Given the description of an element on the screen output the (x, y) to click on. 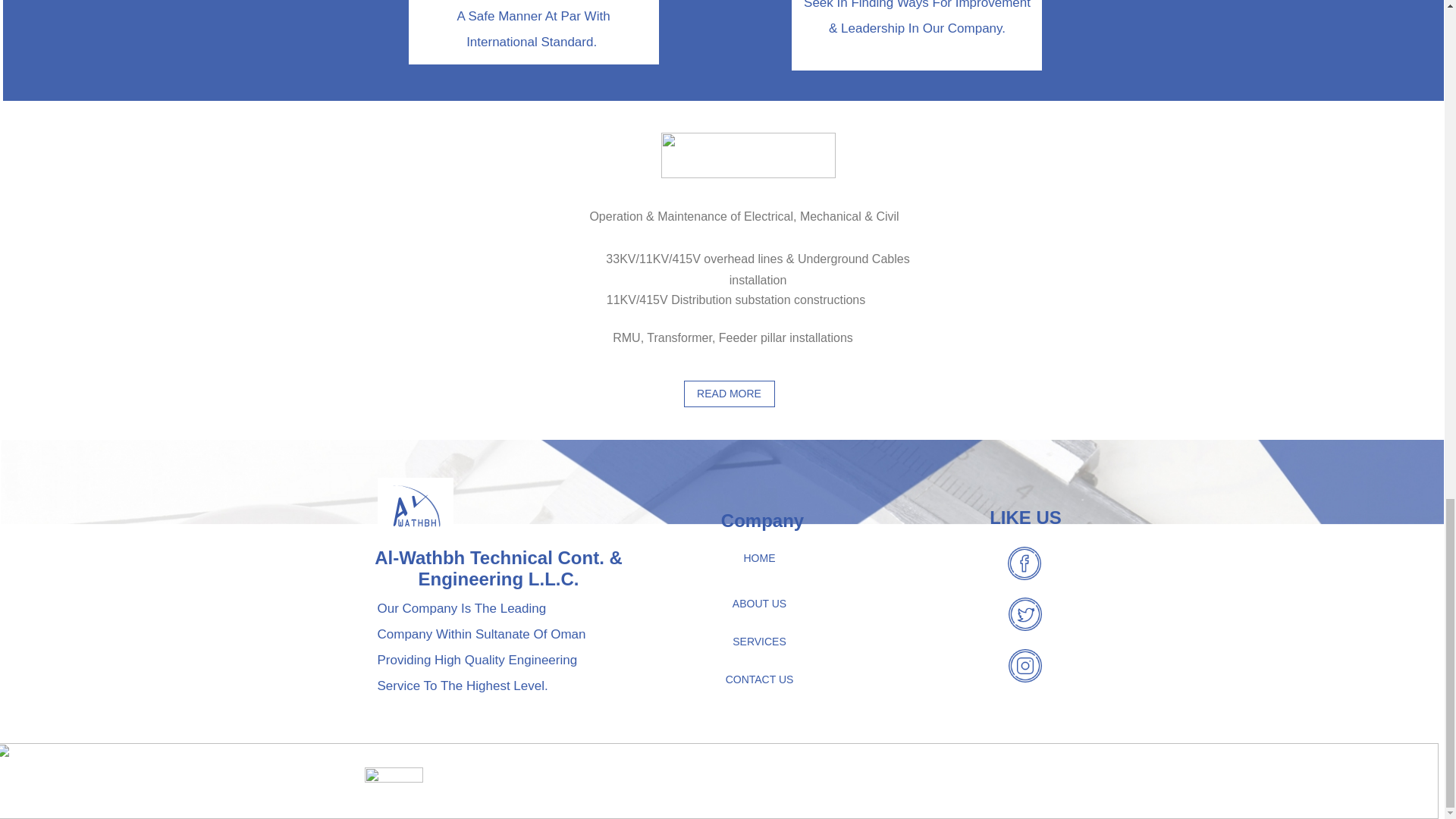
SERVICES (759, 641)
ABOUT US (759, 603)
READ MORE (729, 393)
CONTACT US (759, 680)
HOME (759, 558)
